Given the description of an element on the screen output the (x, y) to click on. 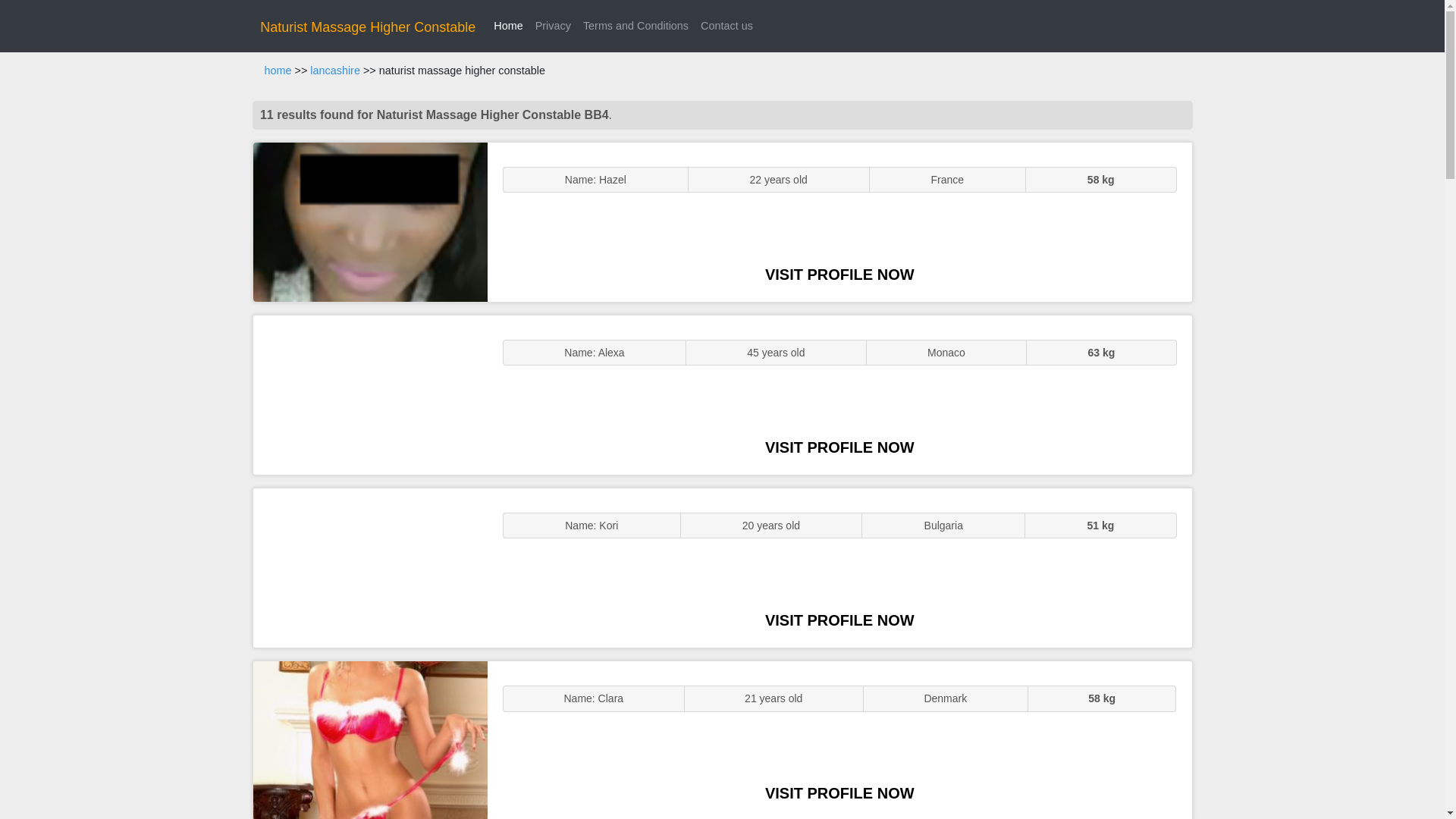
VISIT PROFILE NOW (839, 619)
Contact us (726, 25)
Terms and Conditions (635, 25)
lancashire (334, 70)
Privacy (552, 25)
home (277, 70)
VISIT PROFILE NOW (839, 274)
VISIT PROFILE NOW (839, 792)
Naturist Massage Higher Constable (368, 27)
Sexy (370, 567)
Sluts (370, 739)
 ENGLISH STUNNER (370, 222)
GFE (370, 395)
VISIT PROFILE NOW (839, 446)
